Given the description of an element on the screen output the (x, y) to click on. 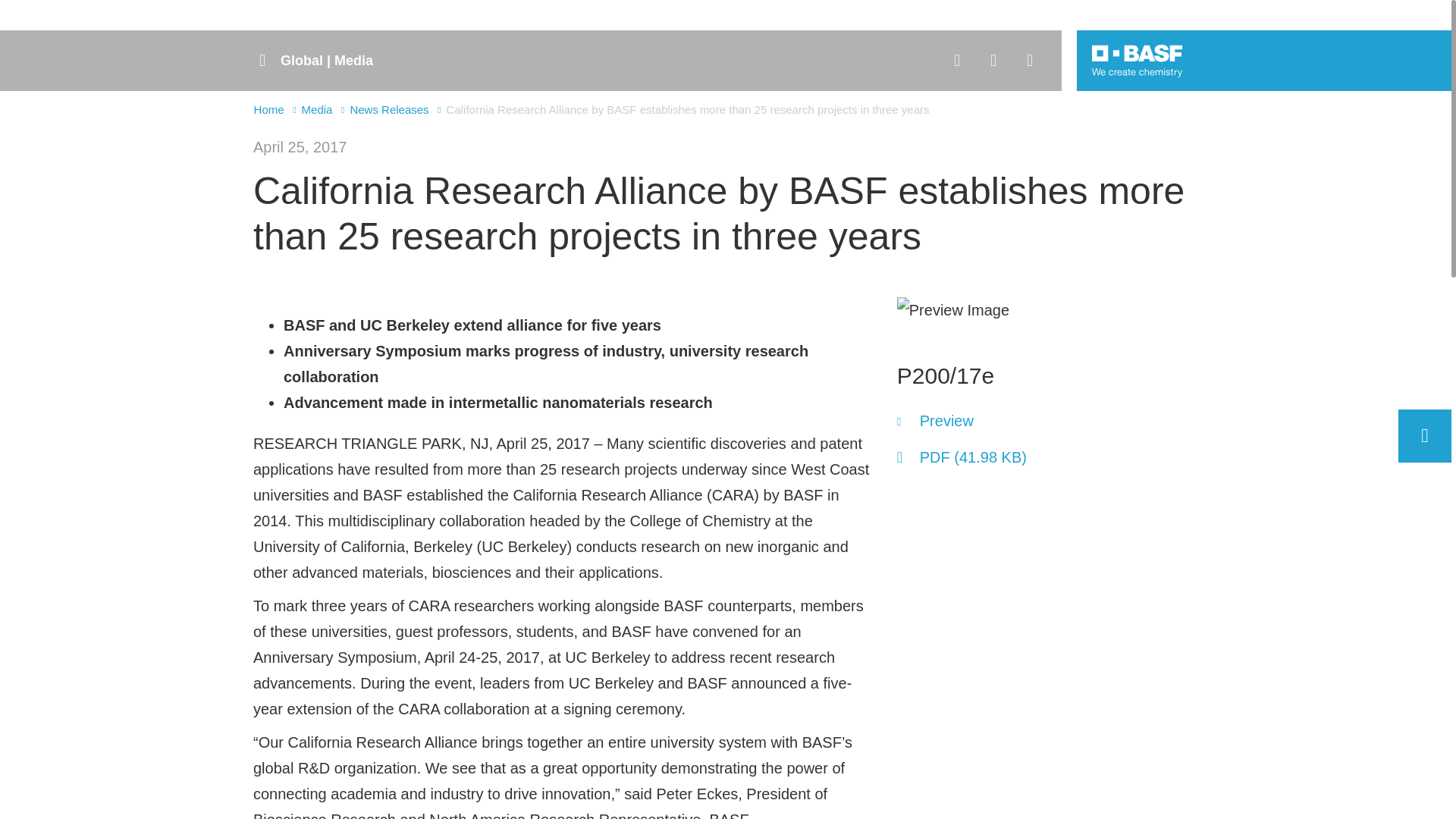
Home (268, 109)
Preview (935, 420)
Home (268, 109)
Media (317, 109)
Media (317, 109)
News Releases (388, 109)
News Releases (388, 109)
Preview Image (952, 309)
Preview (935, 420)
